Given the description of an element on the screen output the (x, y) to click on. 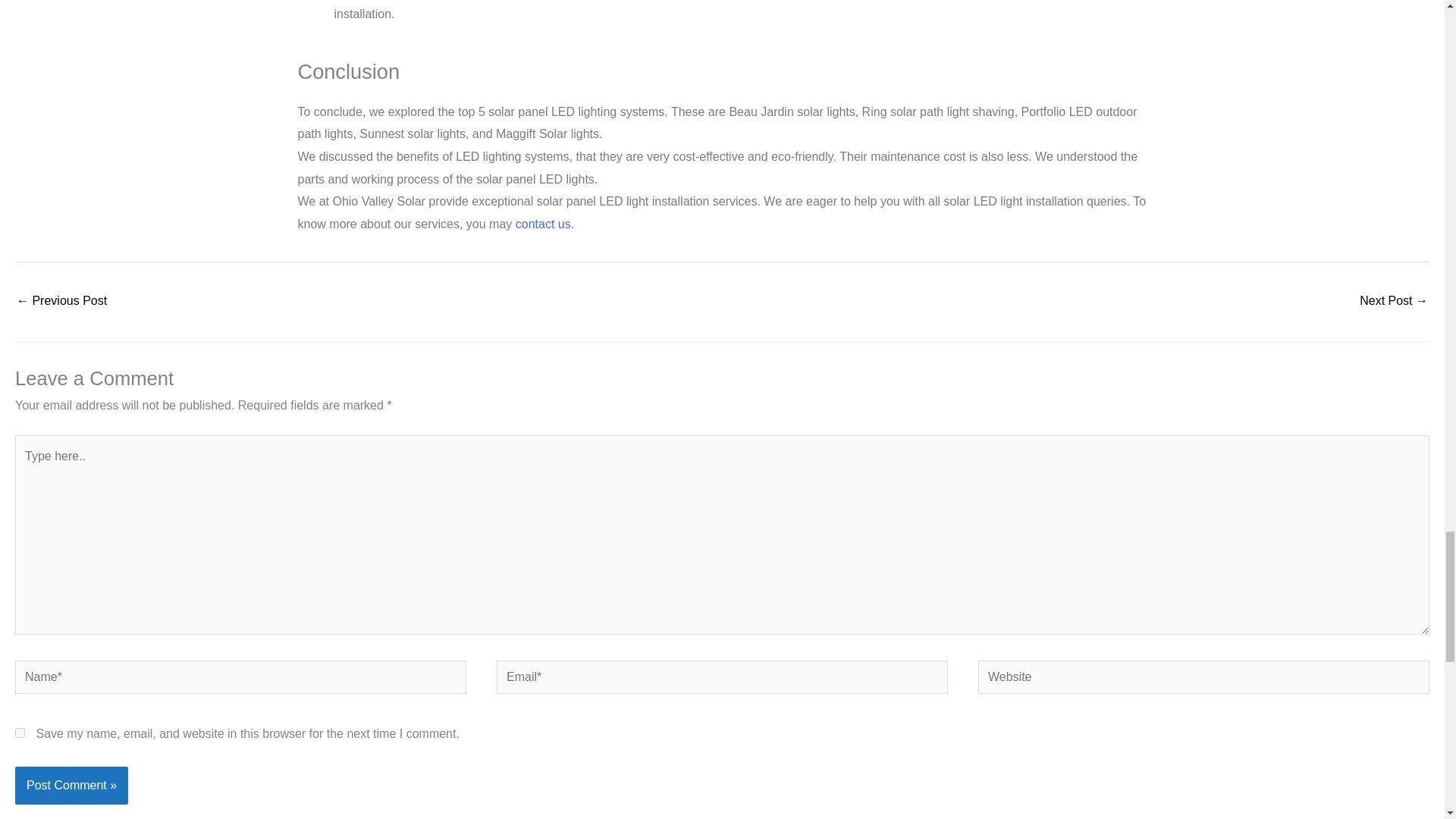
Grid Tied Solar System Explained: Understanding the Basics! (1393, 302)
yes (19, 732)
Go Green with A Trusted Residential Solar Company! (61, 302)
